Given the description of an element on the screen output the (x, y) to click on. 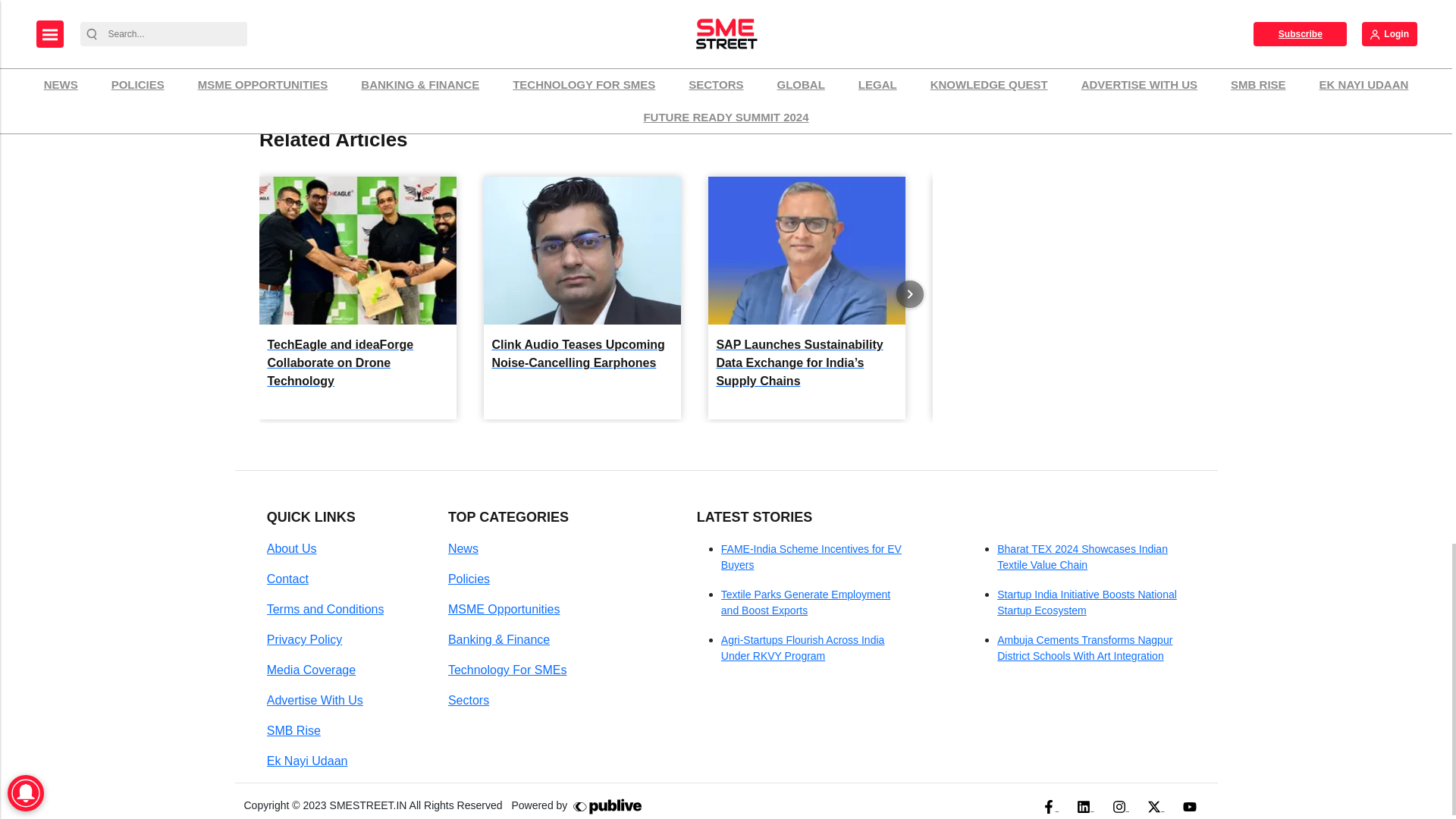
3rd party ad content (1066, 35)
